Given the description of an element on the screen output the (x, y) to click on. 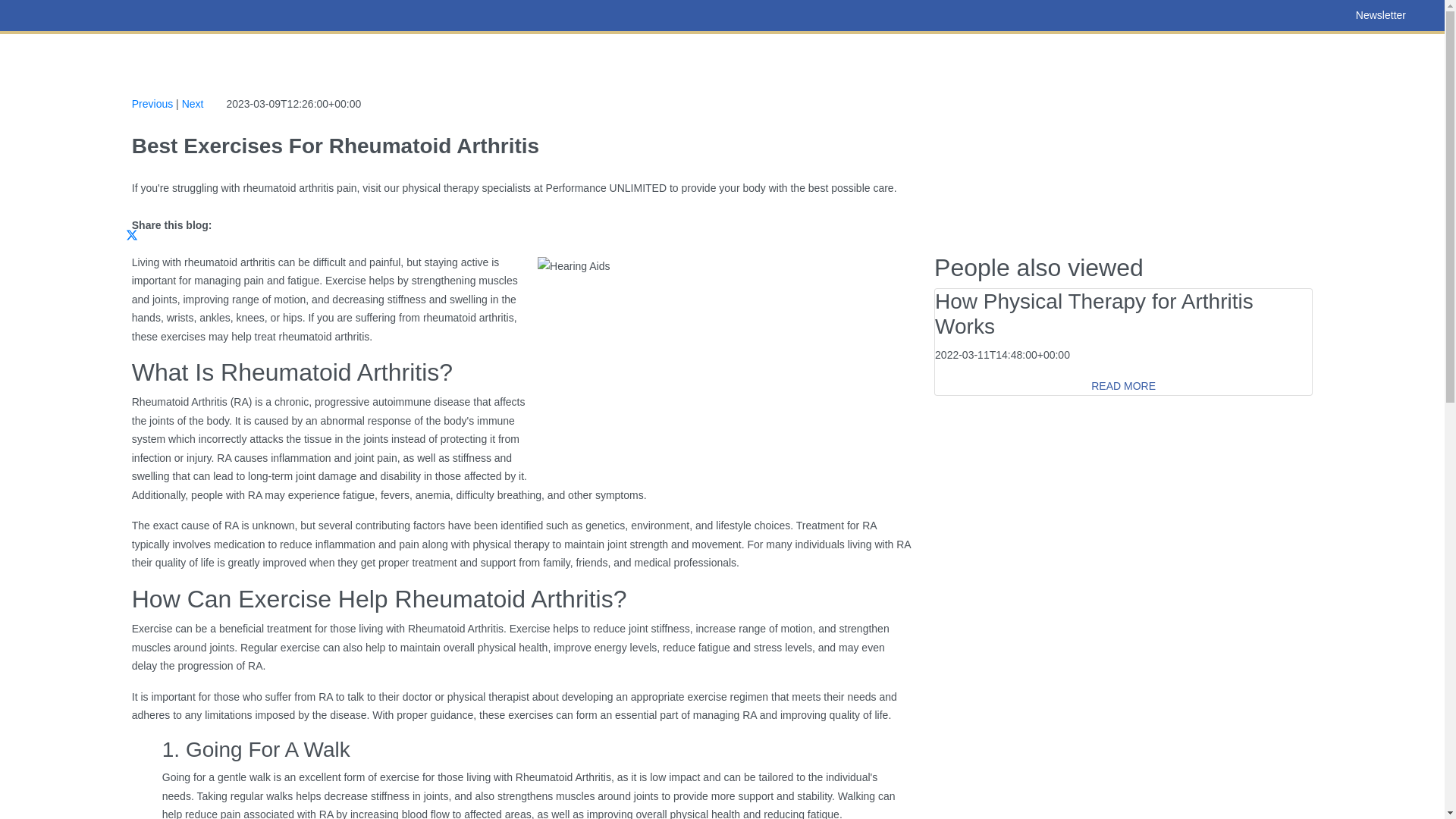
Newsletter (1380, 15)
